Given the description of an element on the screen output the (x, y) to click on. 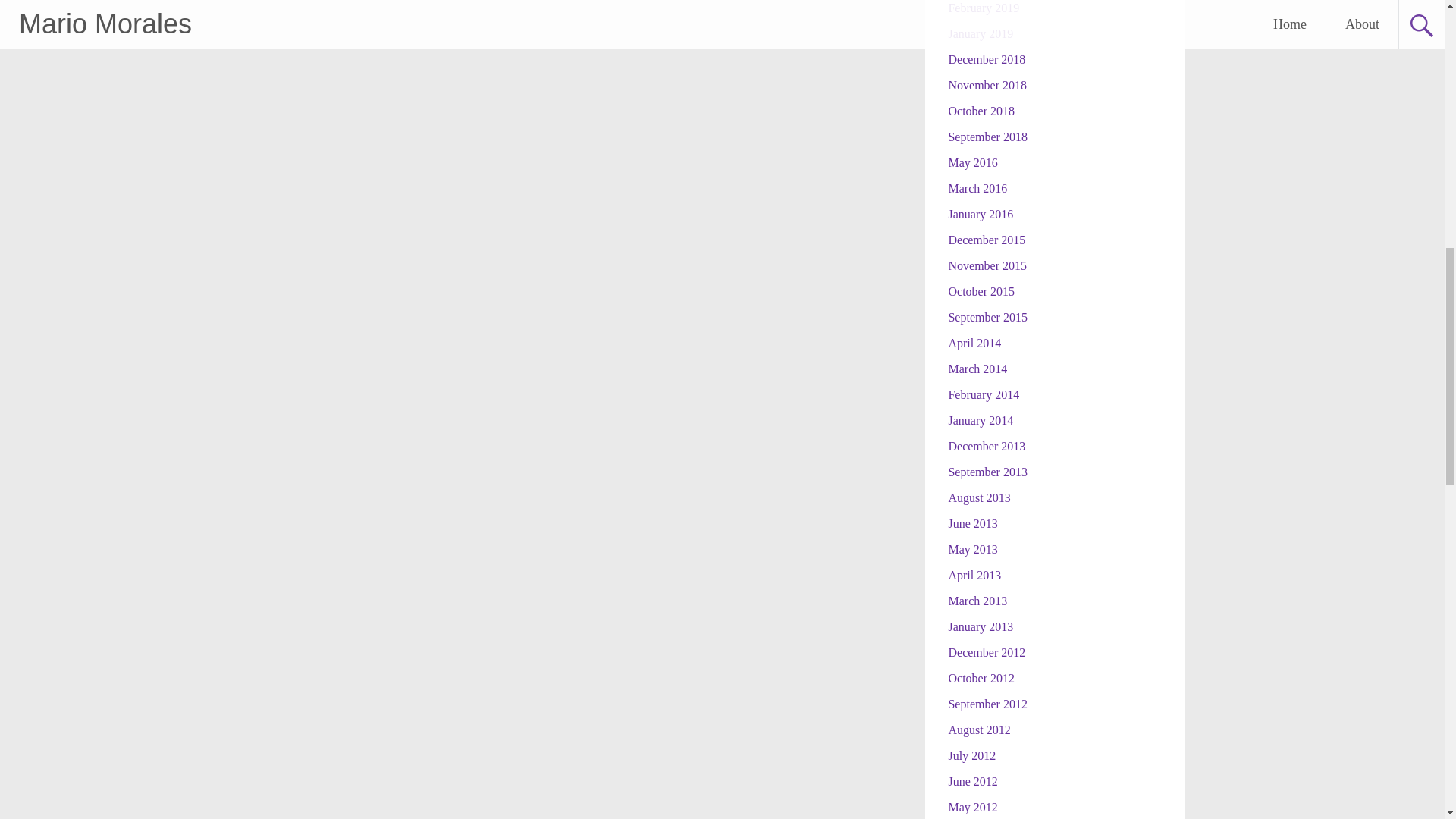
September 2018 (986, 136)
May 2016 (972, 162)
November 2018 (986, 84)
February 2019 (983, 7)
December 2018 (986, 59)
October 2018 (980, 110)
January 2019 (980, 33)
